Given the description of an element on the screen output the (x, y) to click on. 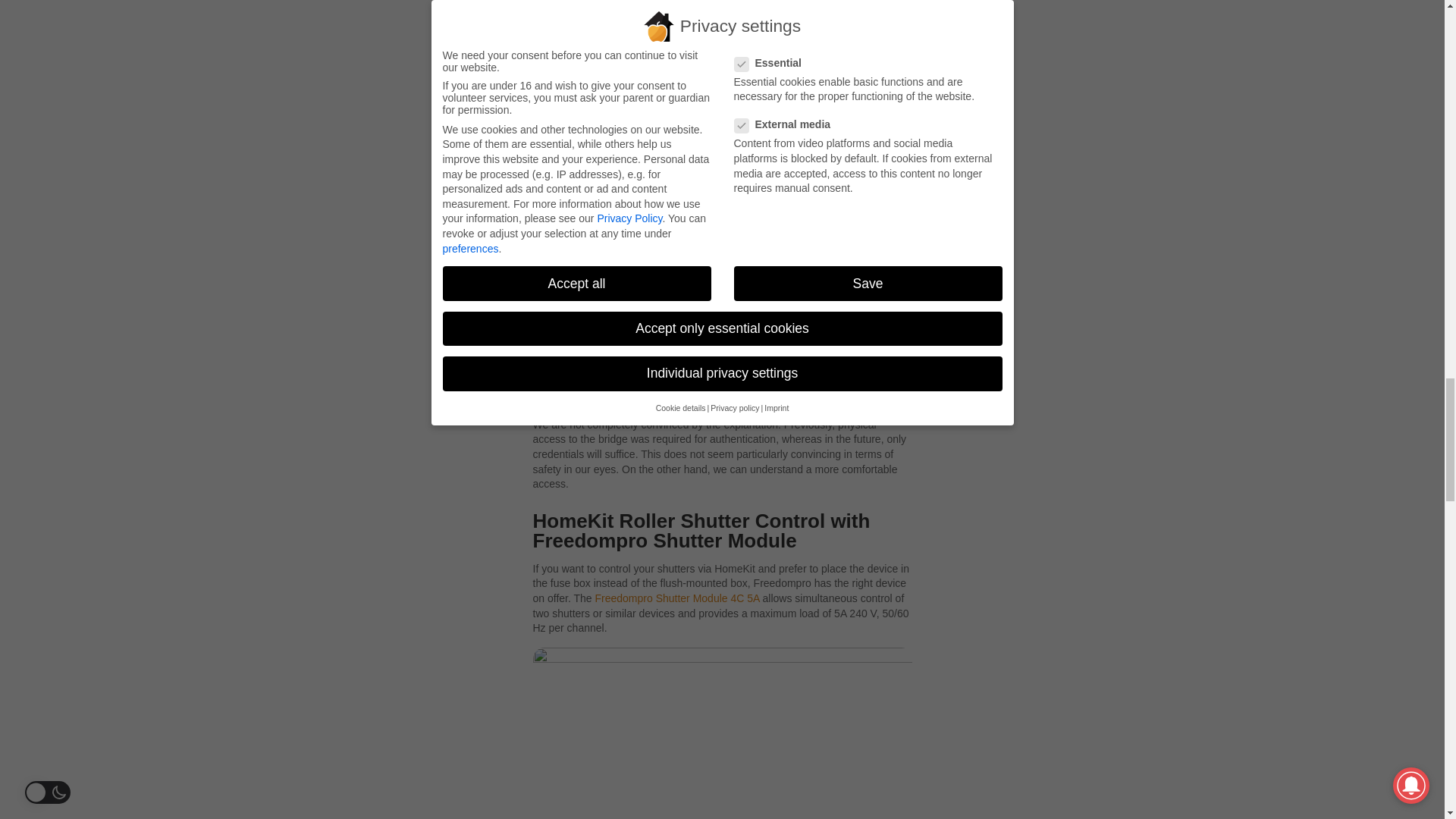
Freedompro Shutter Module 4C 5A (676, 598)
